Given the description of an element on the screen output the (x, y) to click on. 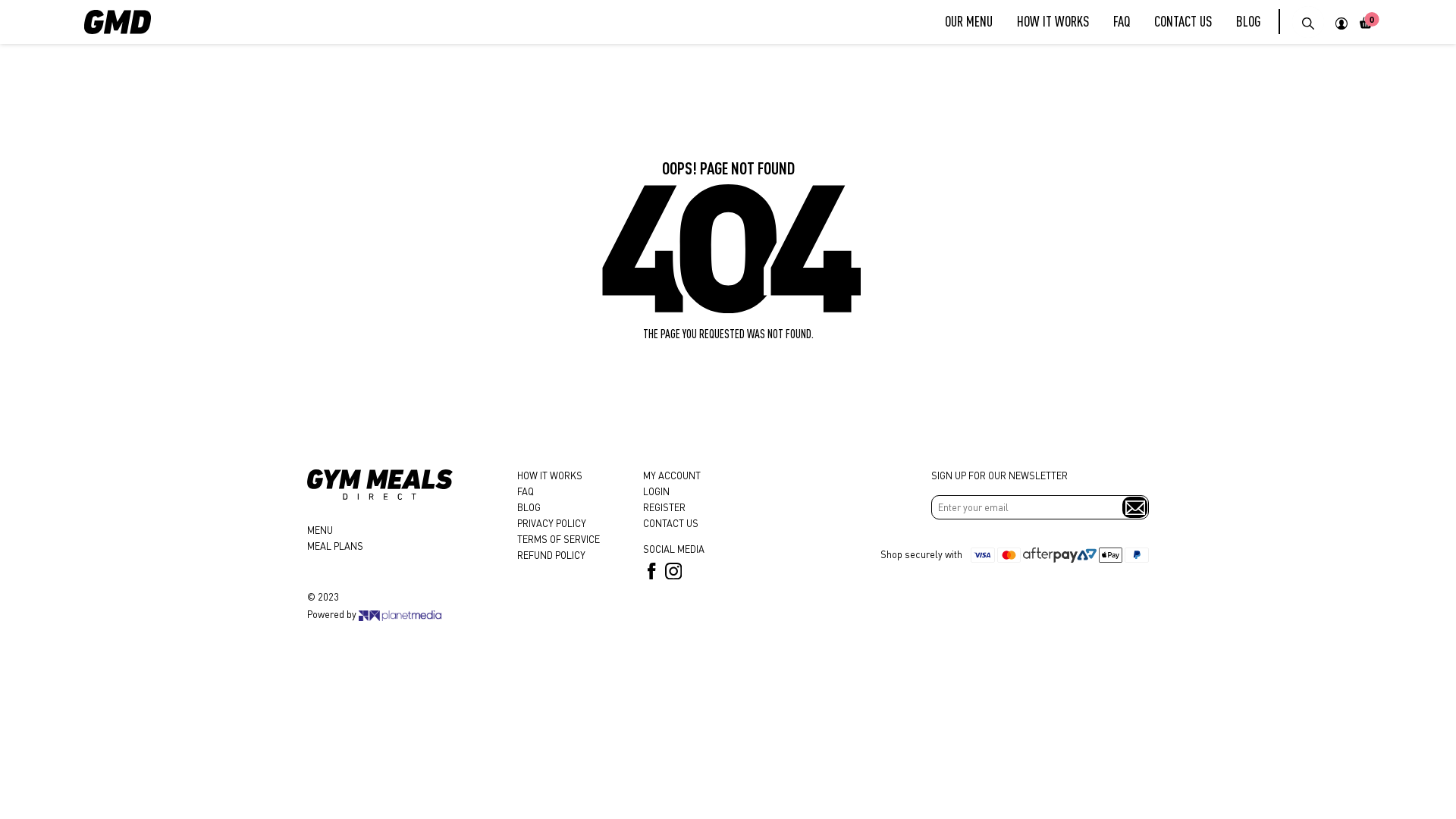
0 Element type: text (1365, 21)
CONTACT US Element type: text (670, 523)
LOGIN Element type: text (656, 491)
BLOG Element type: text (1248, 21)
CONTACT US Element type: text (1182, 21)
REGISTER Element type: text (664, 507)
BLOG Element type: text (528, 507)
REFUND POLICY Element type: text (551, 555)
MENU Element type: text (319, 530)
MEAL PLANS Element type: text (335, 545)
HOW IT WORKS Element type: text (549, 475)
HOW IT WORKS Element type: text (1052, 21)
OUR MENU Element type: text (968, 21)
FAQ Element type: text (525, 491)
PRIVACY POLICY Element type: text (551, 523)
MY ACCOUNT Element type: text (671, 475)
TERMS OF SERVICE Element type: text (558, 539)
FAQ Element type: text (1121, 21)
